Given the description of an element on the screen output the (x, y) to click on. 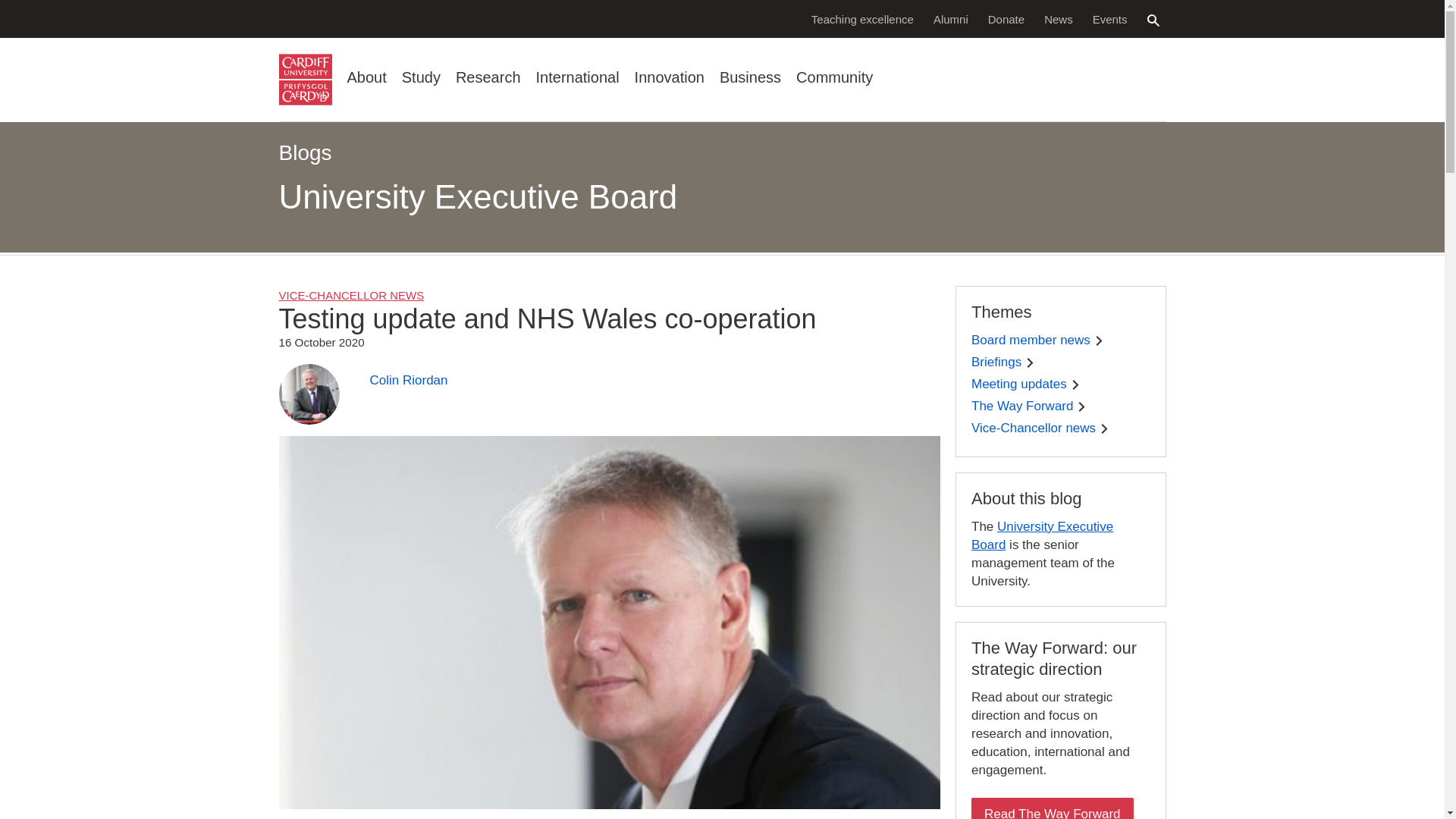
Search (1152, 20)
View all posts in Vice-Chancellor news (352, 295)
Cardiff University logo (305, 79)
Donate (1005, 19)
Cardiff University logo (305, 79)
Teaching excellence (862, 19)
News (1058, 19)
Chevron right (1081, 406)
Chevron right (1104, 429)
Chevron right (1030, 362)
Alumni (951, 19)
Events (1109, 19)
Chevron right (1075, 384)
Chevron right (1098, 340)
